Given the description of an element on the screen output the (x, y) to click on. 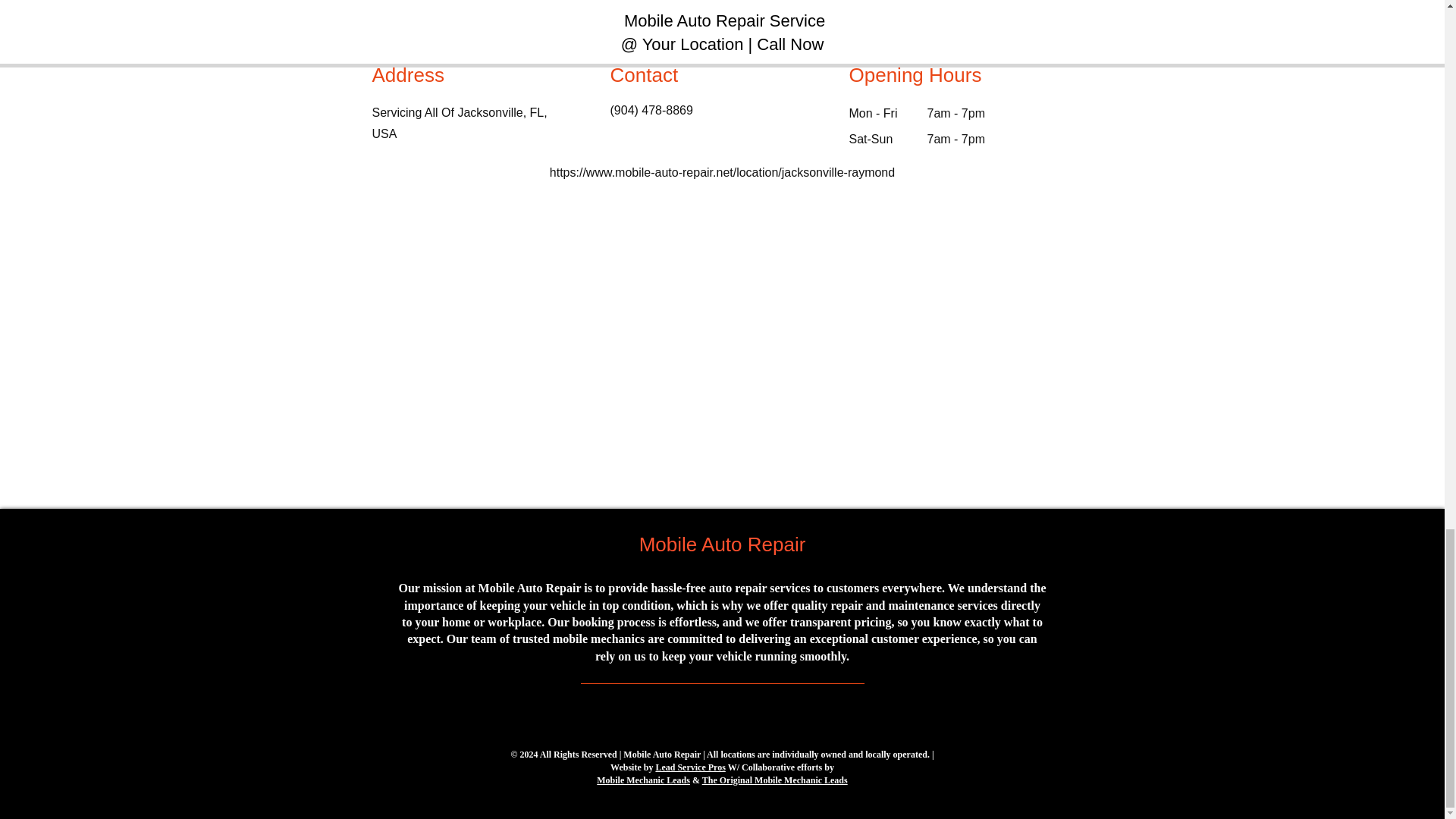
The Original Mobile Mechanic Leads (774, 779)
Mobile Mechanic Leads (643, 779)
Lead Service Pros (690, 767)
